Given the description of an element on the screen output the (x, y) to click on. 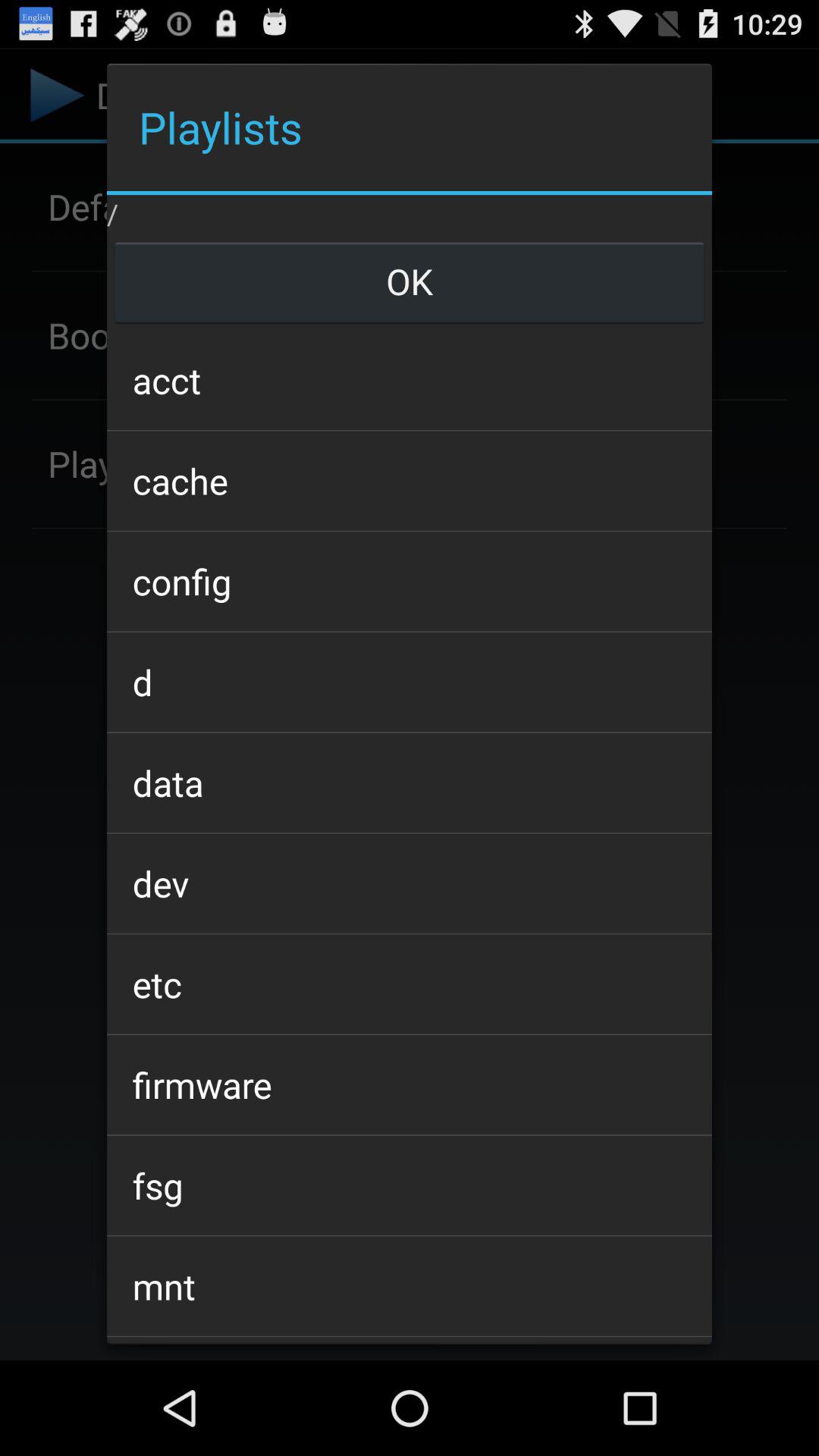
jump to mnt (409, 1285)
